Given the description of an element on the screen output the (x, y) to click on. 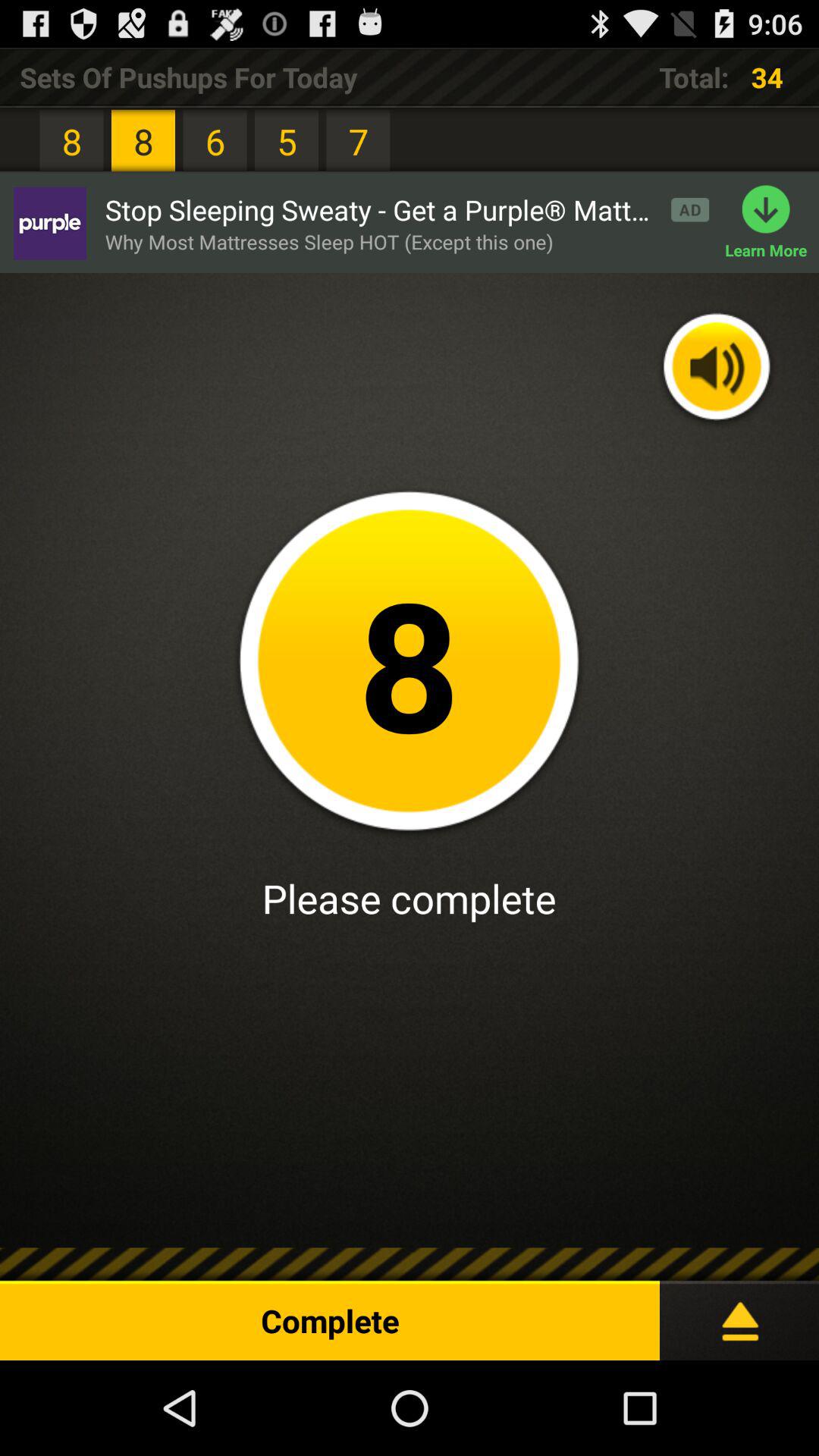
flip to the learn more item (772, 223)
